Given the description of an element on the screen output the (x, y) to click on. 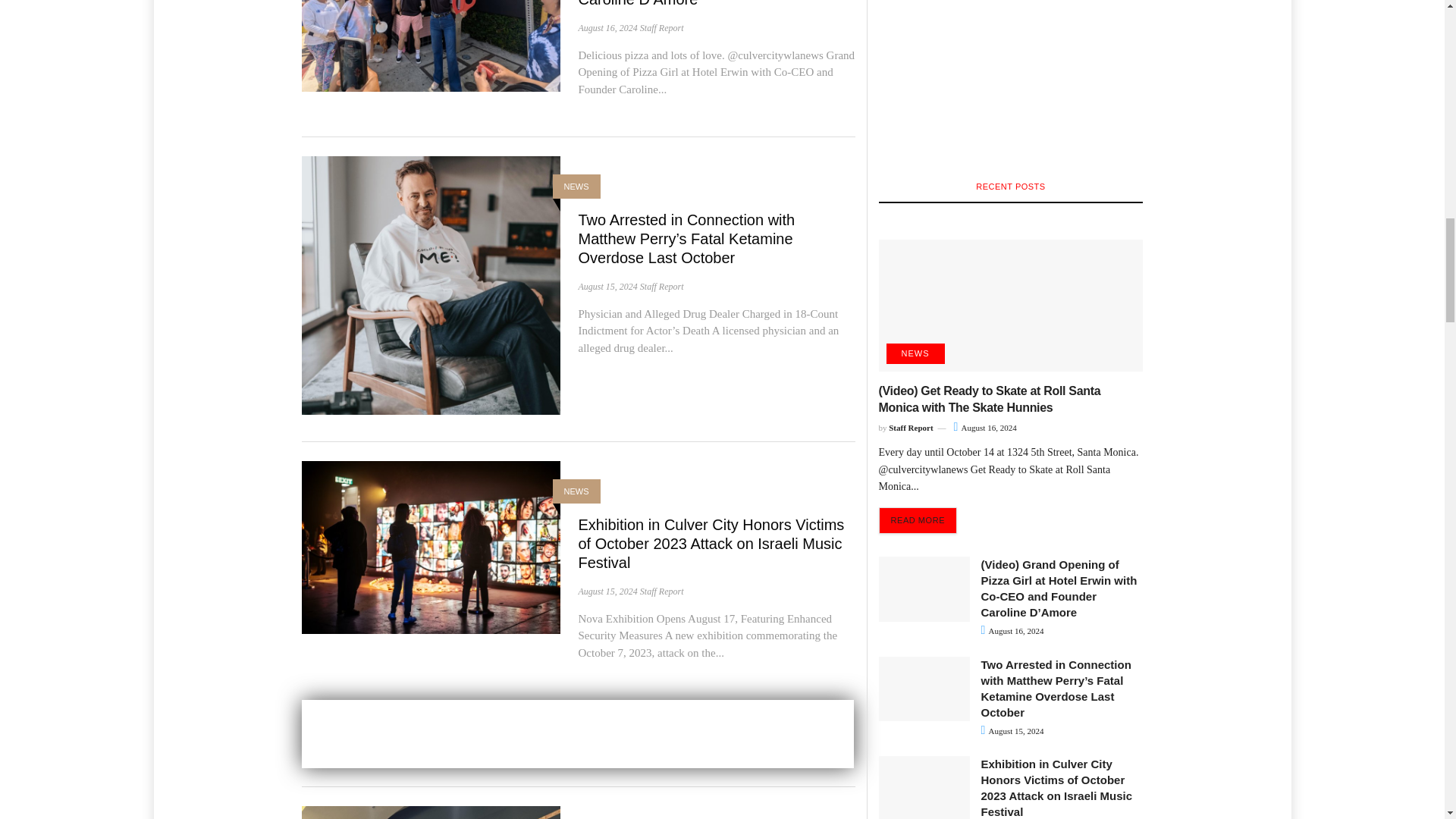
Posts by Staff Report (662, 27)
Posts by Staff Report (662, 286)
Posts by Staff Report (662, 591)
